Given the description of an element on the screen output the (x, y) to click on. 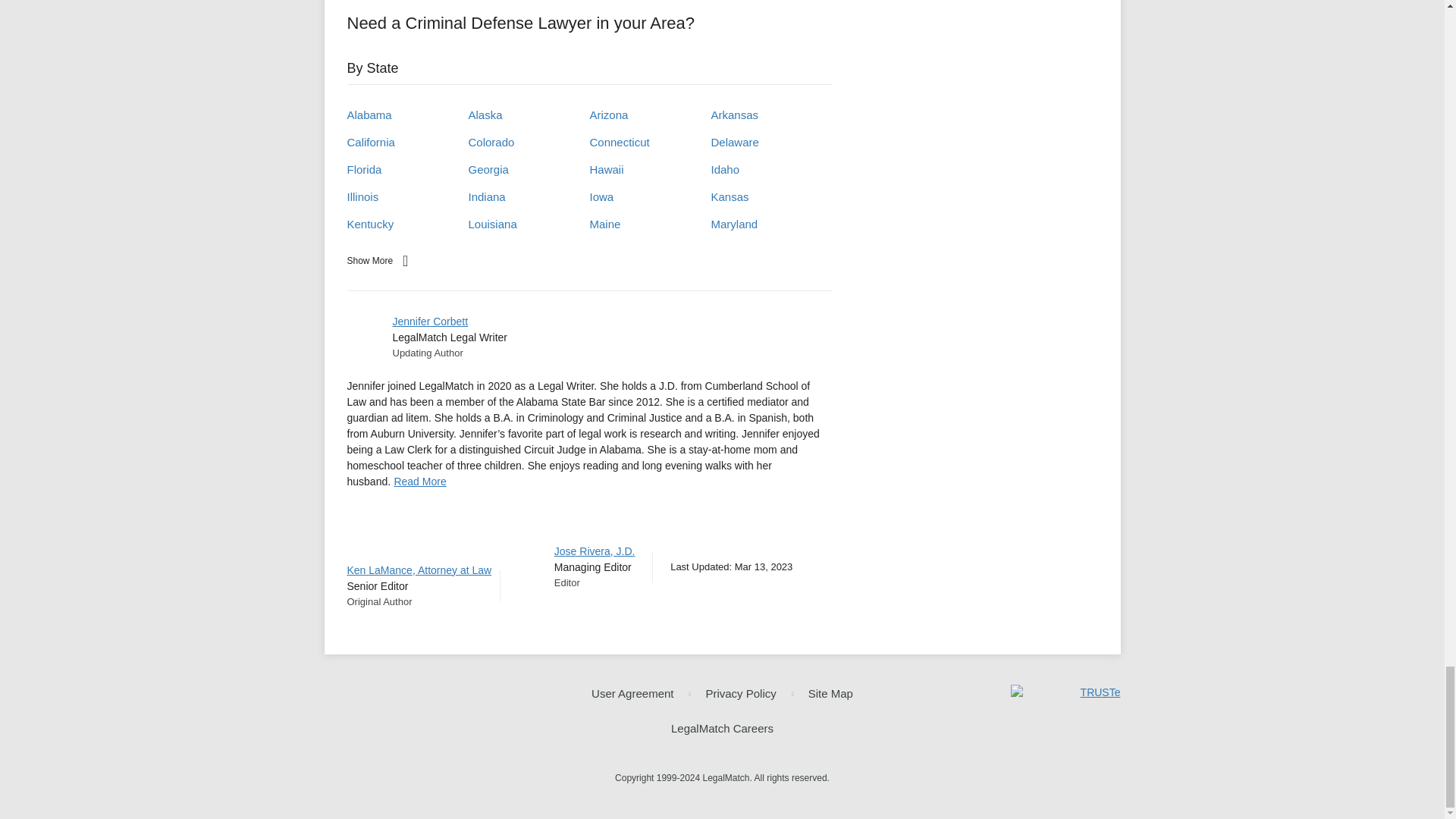
LegalMatch Careers (722, 728)
